Given the description of an element on the screen output the (x, y) to click on. 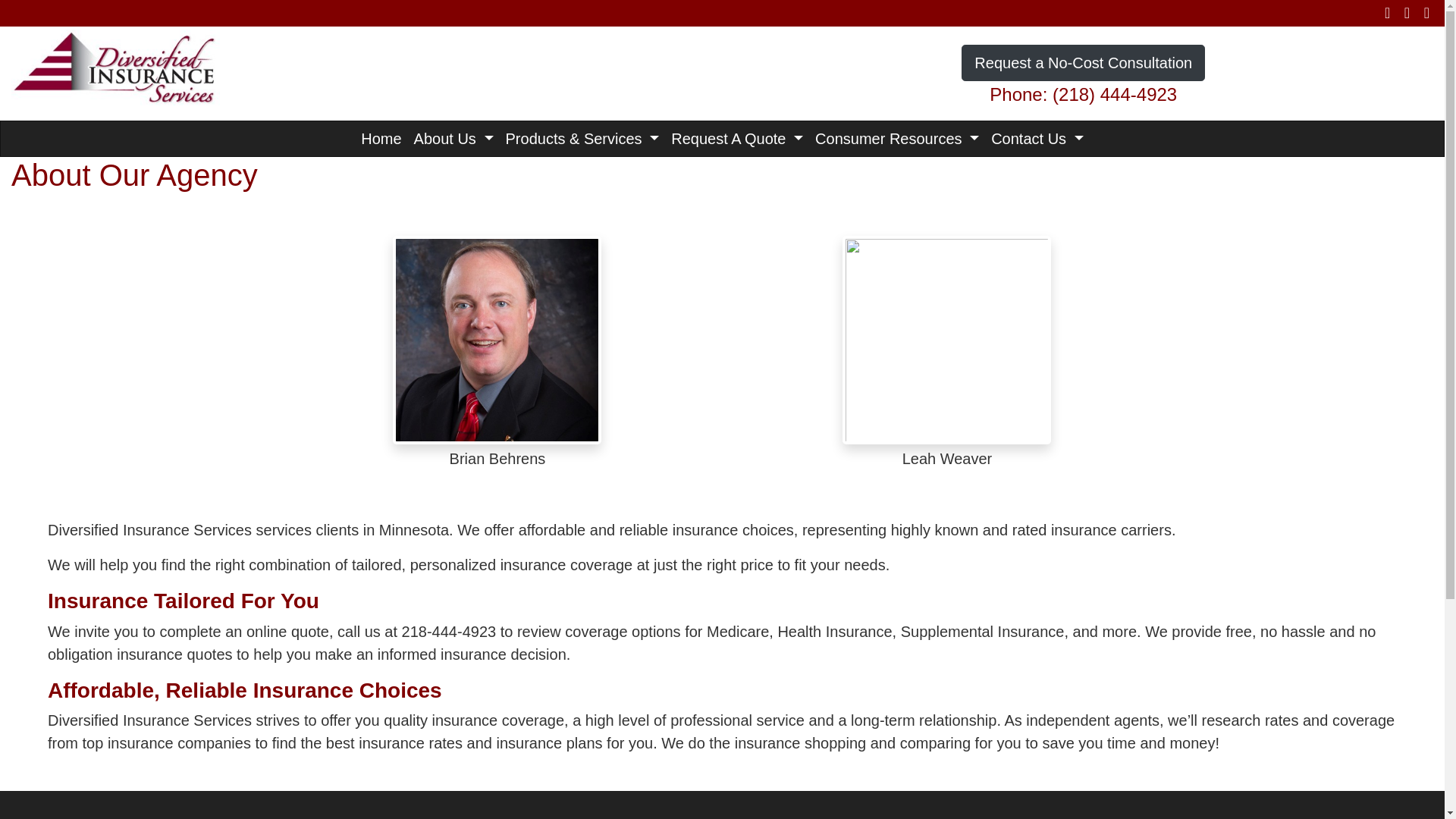
Diversified Insurance Services (115, 65)
Request a No-Cost Consultation (1082, 63)
Contact Us (1037, 138)
Home (381, 138)
Consumer Resources (897, 138)
About Us (453, 138)
Request A Quote (737, 138)
